Given the description of an element on the screen output the (x, y) to click on. 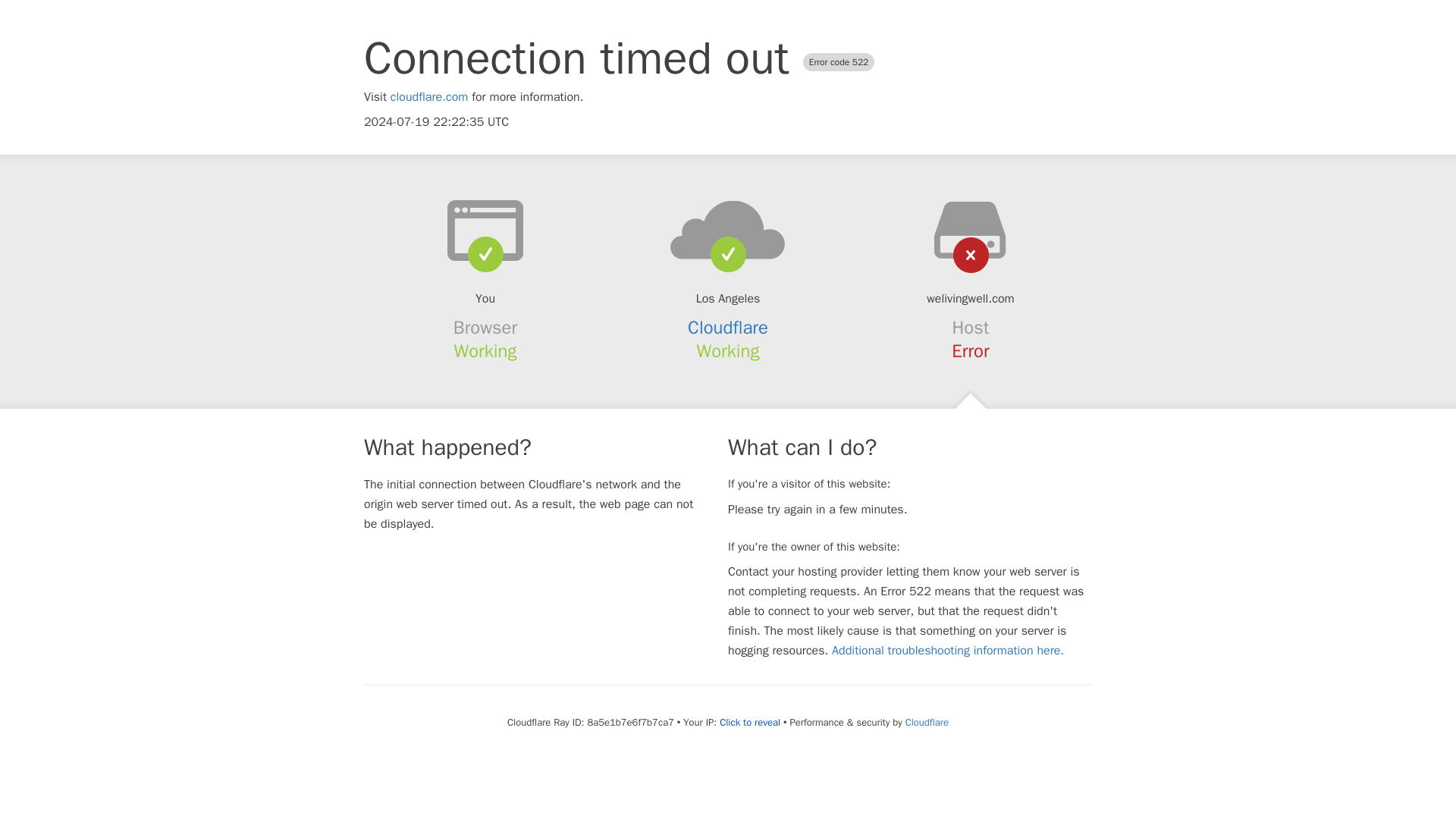
Click to reveal (749, 722)
cloudflare.com (429, 96)
Cloudflare (927, 721)
Cloudflare (727, 327)
Additional troubleshooting information here. (947, 650)
